Given the description of an element on the screen output the (x, y) to click on. 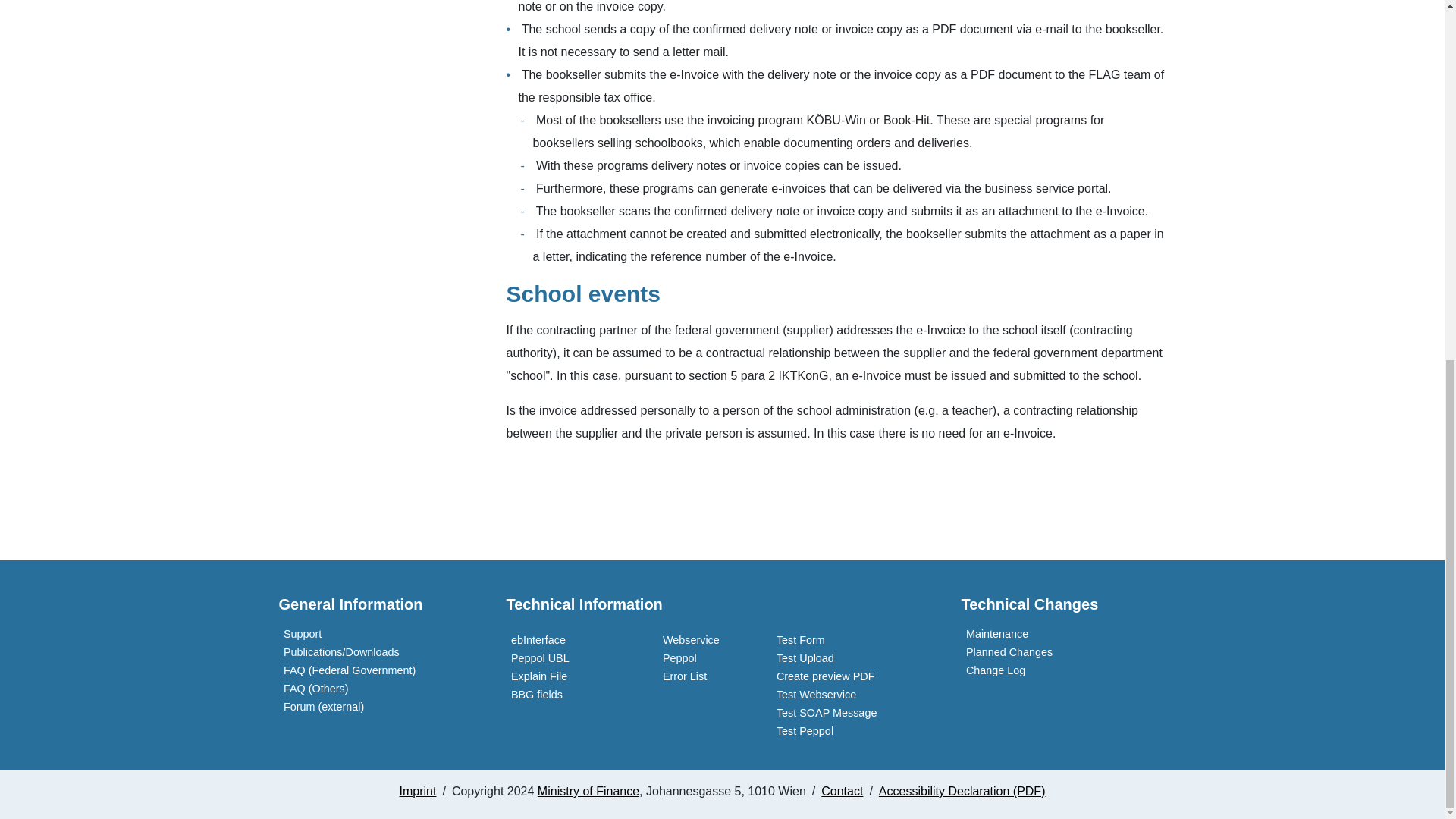
BBG fields (534, 694)
Create preview PDF (823, 676)
Planned Changes (1006, 652)
Peppol (676, 657)
Maintenance (994, 633)
Test Peppol (801, 730)
Explain File (536, 676)
Error List (682, 676)
Test Upload (801, 657)
Webservice (688, 639)
Support (300, 633)
Test SOAP Message (823, 712)
ebInterface (536, 639)
Test Form (797, 639)
